Given the description of an element on the screen output the (x, y) to click on. 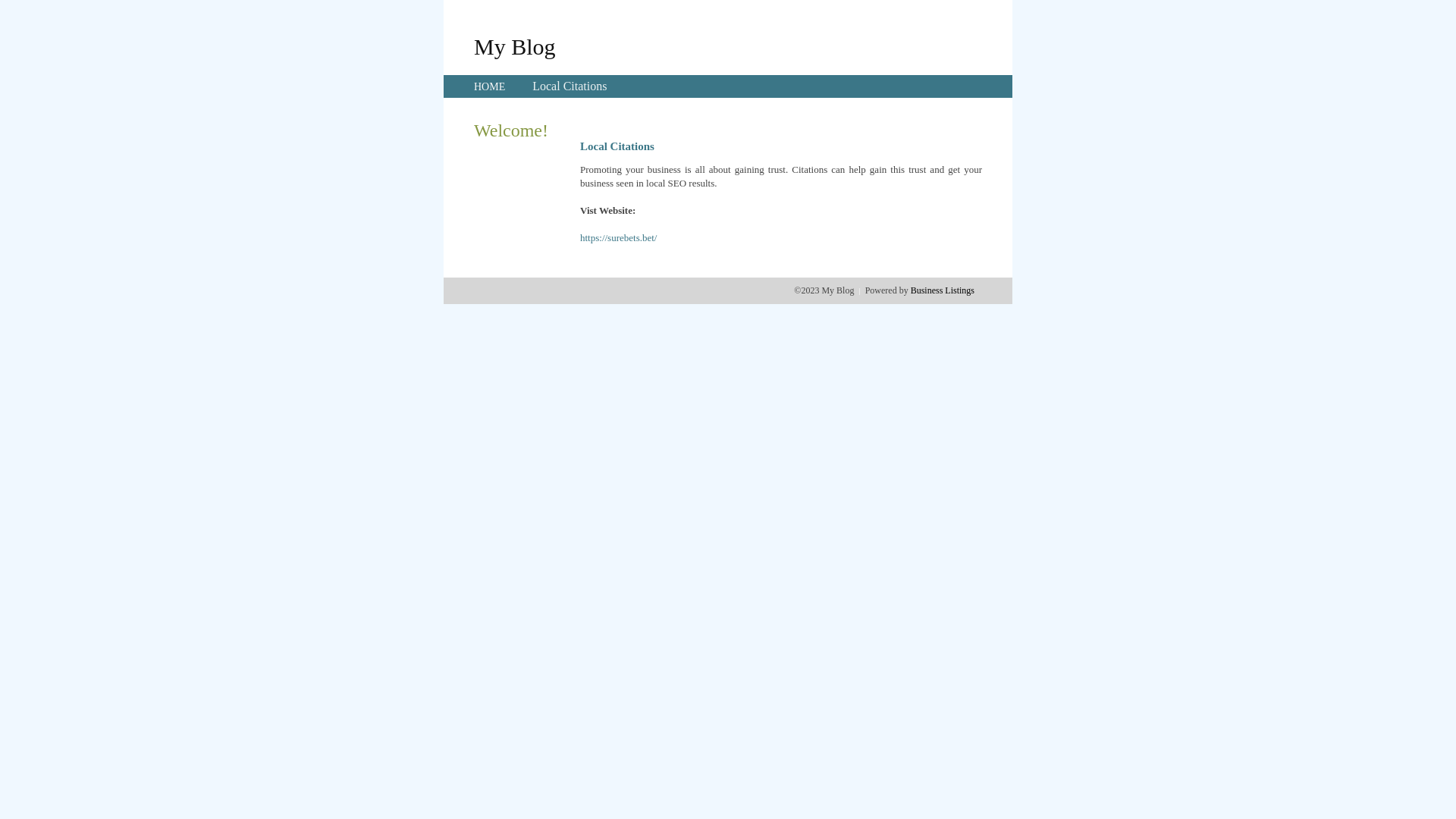
HOME Element type: text (489, 86)
Business Listings Element type: text (942, 290)
Local Citations Element type: text (569, 85)
My Blog Element type: text (514, 46)
https://surebets.bet/ Element type: text (618, 237)
